Given the description of an element on the screen output the (x, y) to click on. 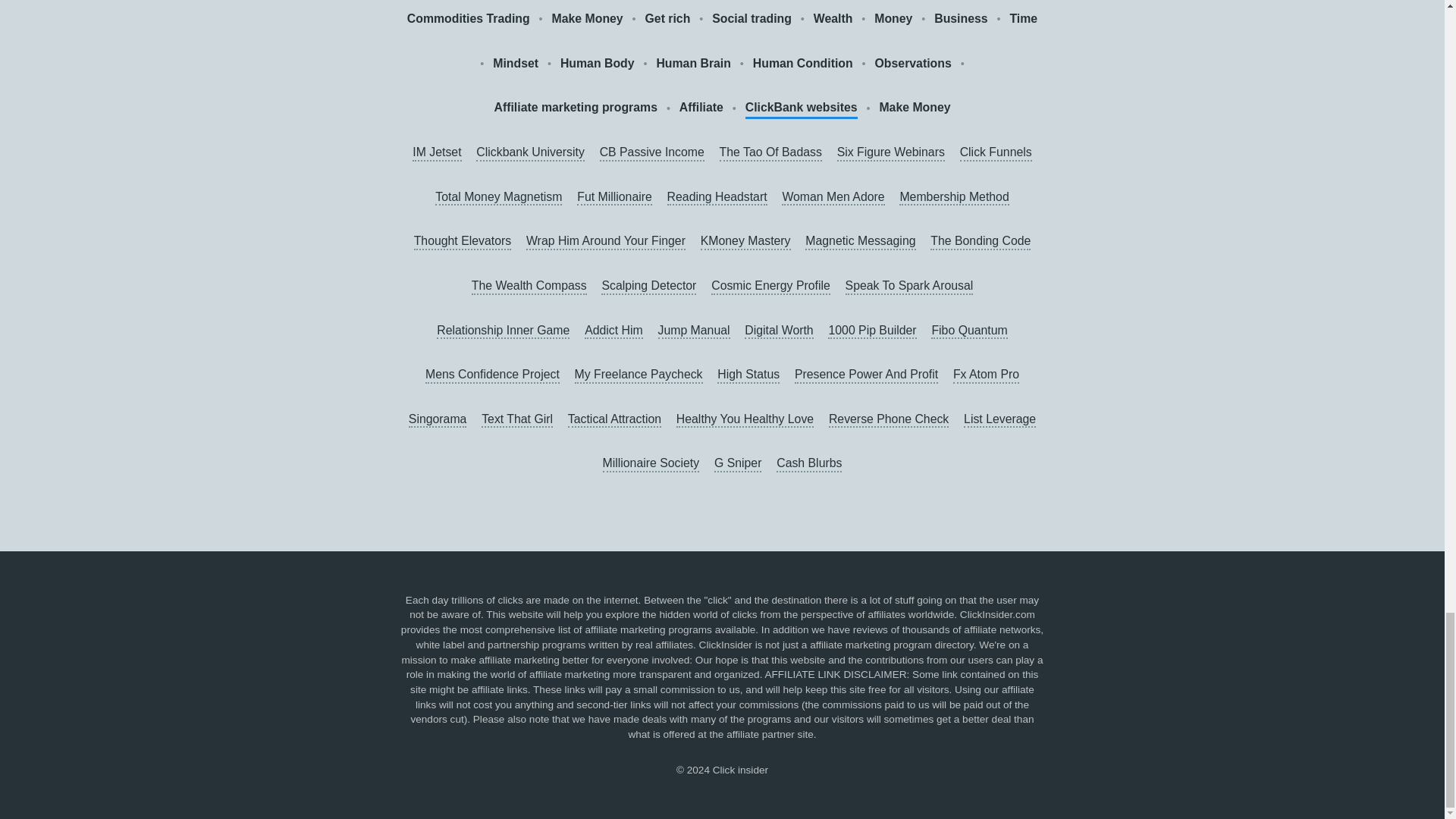
Make Money (587, 18)
Wealth (833, 18)
Commodities Trading (468, 18)
Time (1022, 18)
Business (960, 18)
Money (893, 18)
Social trading (751, 18)
Get rich (667, 18)
